Given the description of an element on the screen output the (x, y) to click on. 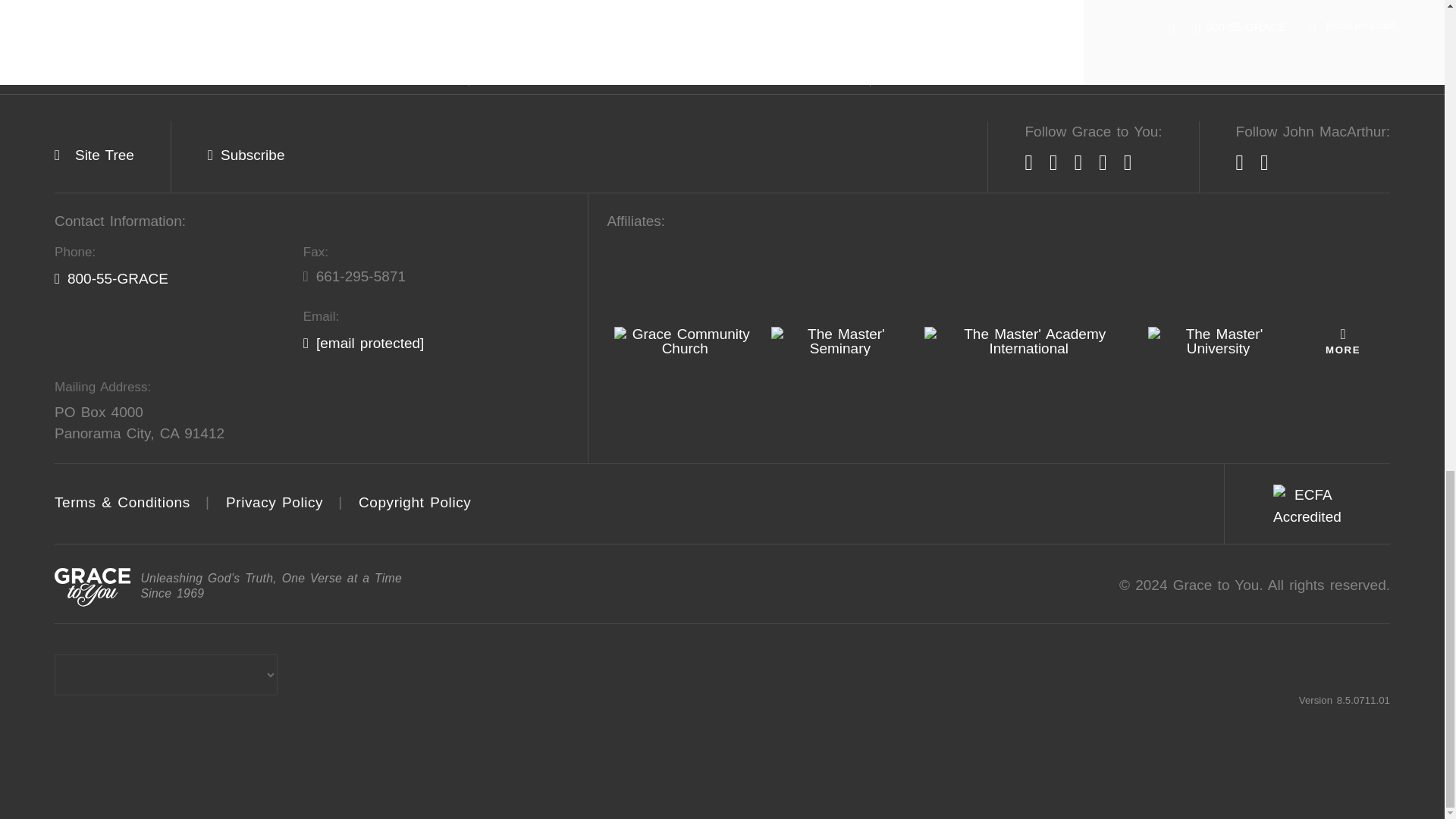
More Affiliates (1341, 340)
The Master' Academy International (1028, 340)
The Master' Seminary (839, 340)
Grace Community Church (684, 340)
The Master' University (1218, 340)
Grace-to-You (93, 587)
